Given the description of an element on the screen output the (x, y) to click on. 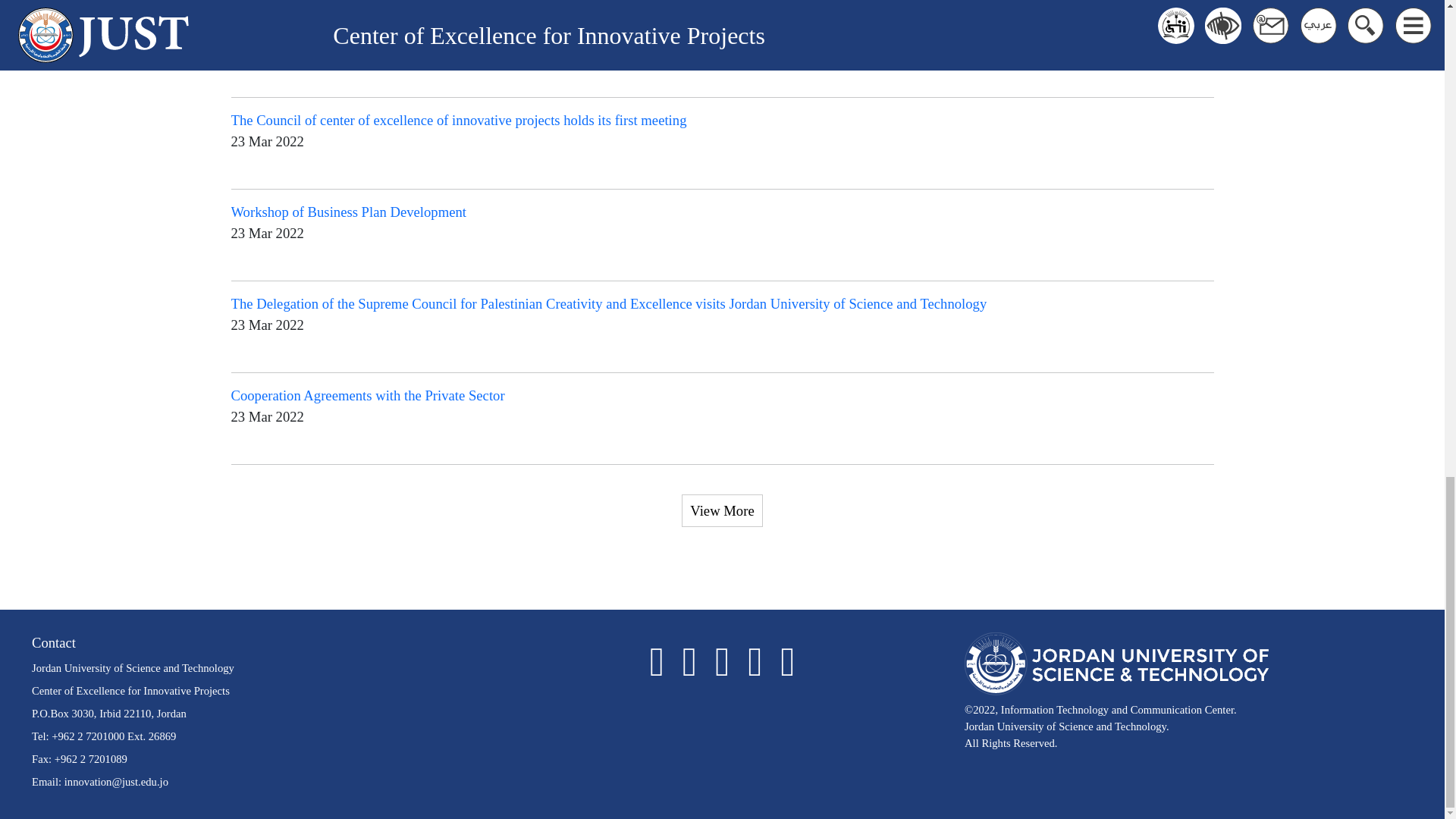
View More (721, 510)
Cooperation Agreements with the Private Sector (366, 395)
Workshop of Business Plan Development (347, 211)
